Given the description of an element on the screen output the (x, y) to click on. 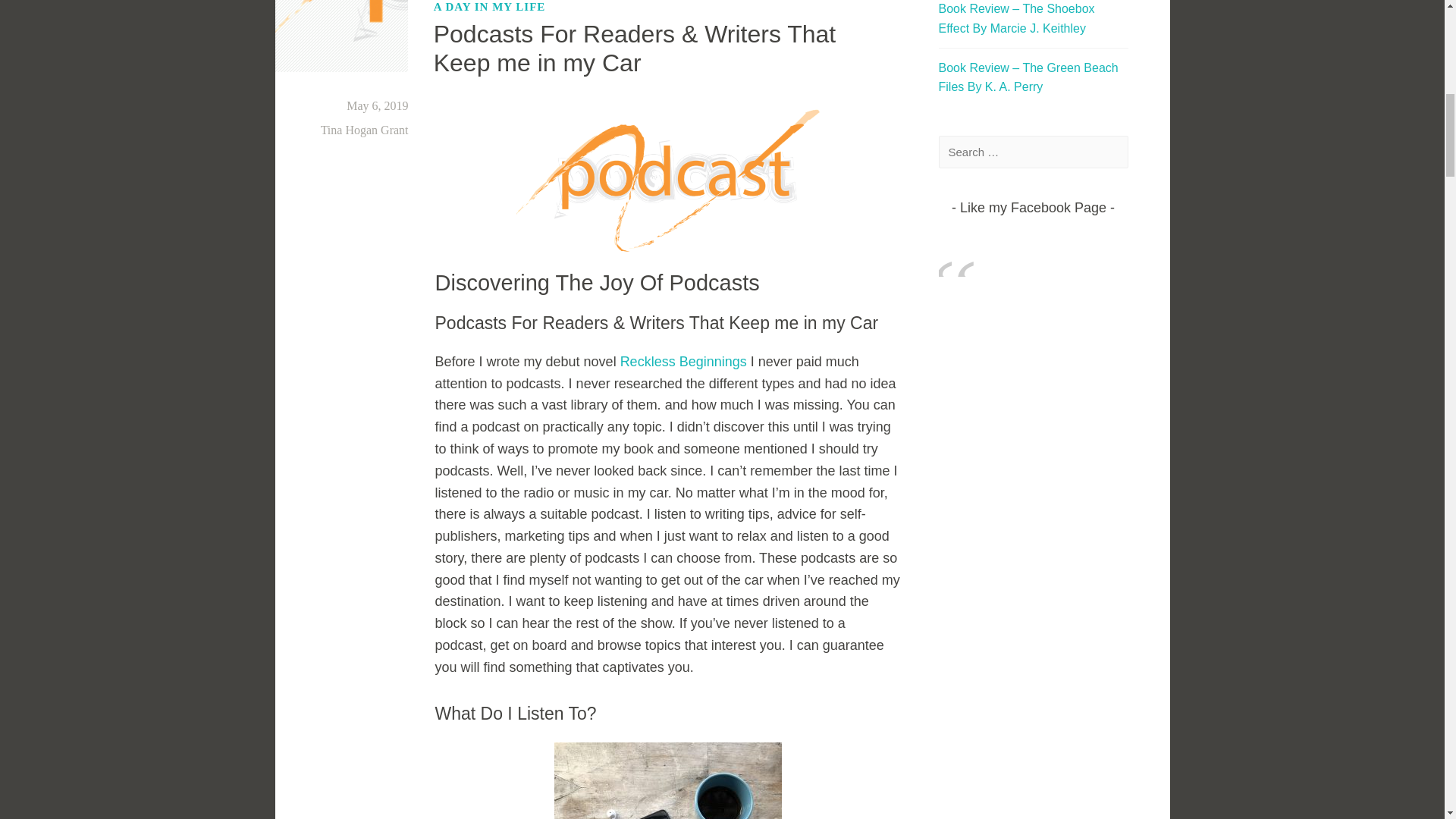
A DAY IN MY LIFE (489, 7)
Reckless Beginnings (683, 361)
Tina Hogan Grant (364, 129)
May 6, 2019 (376, 105)
